Given the description of an element on the screen output the (x, y) to click on. 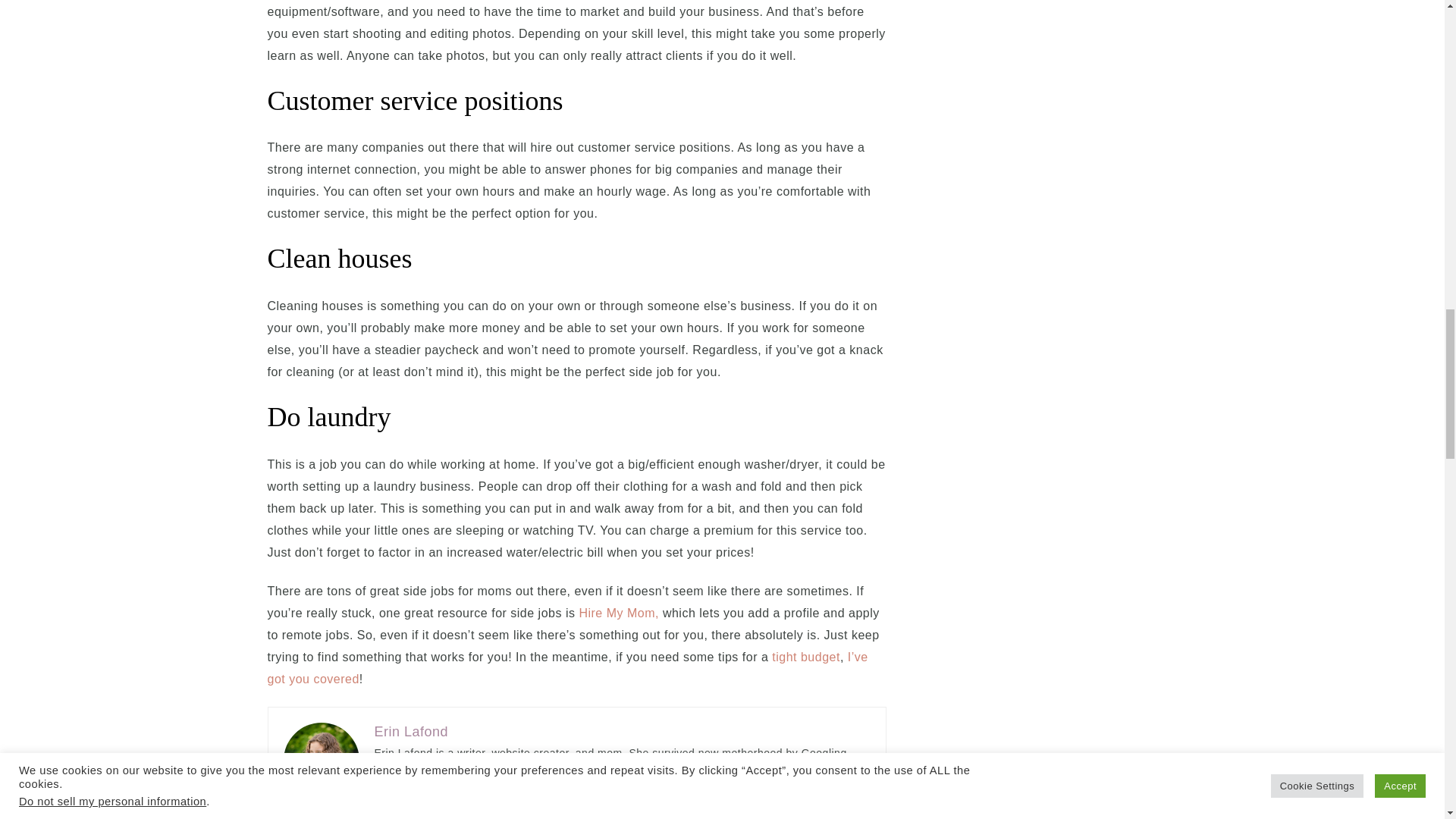
Hire My Mom, (618, 612)
Erin Lafond (411, 731)
tight budget (805, 656)
www.erinlafond.com (425, 812)
